Given the description of an element on the screen output the (x, y) to click on. 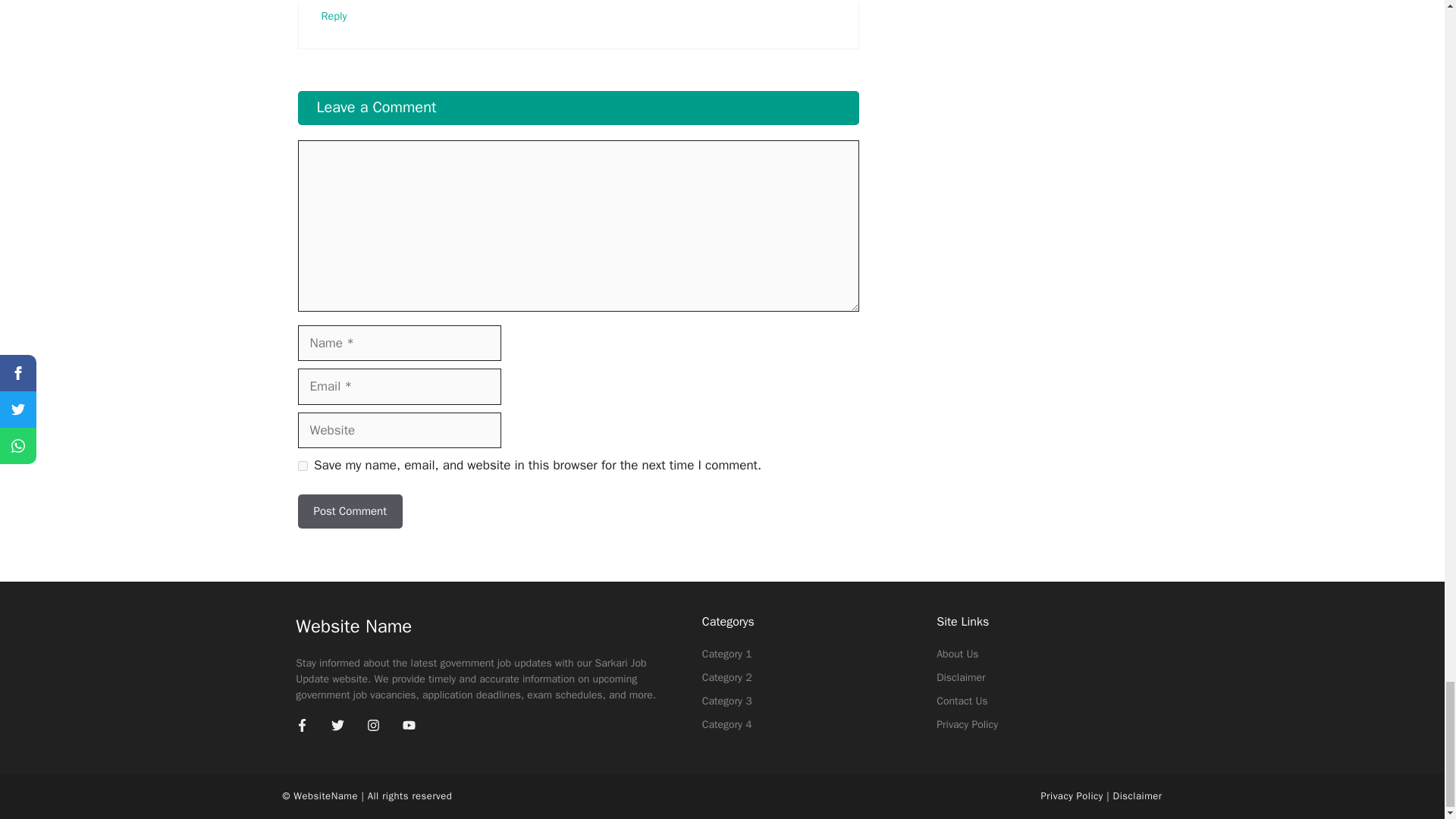
Post Comment (349, 511)
yes (302, 465)
